Given the description of an element on the screen output the (x, y) to click on. 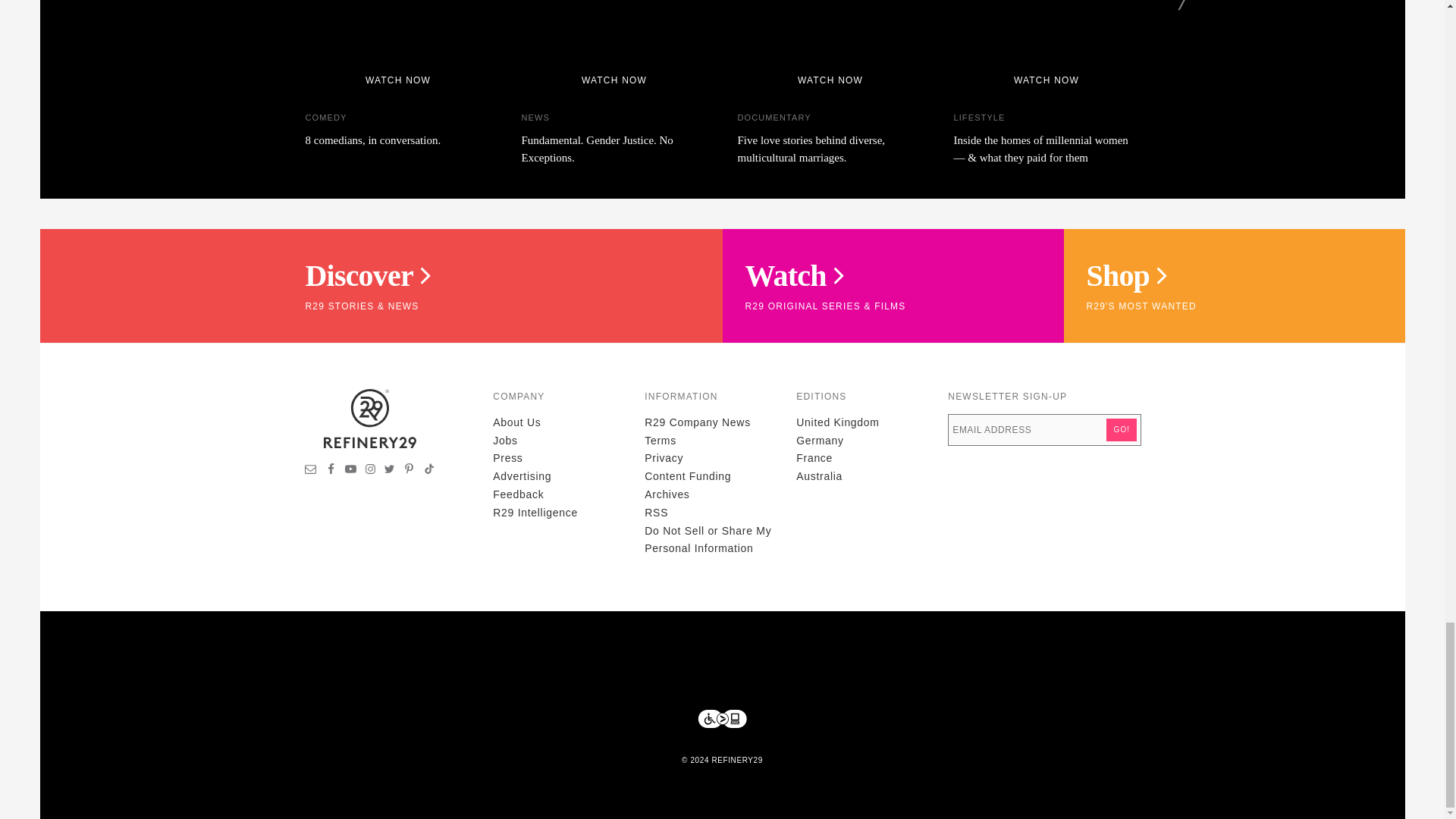
Visit Refinery29 on YouTube (350, 470)
Next (1184, 5)
Sign up for newsletters (310, 470)
